Given the description of an element on the screen output the (x, y) to click on. 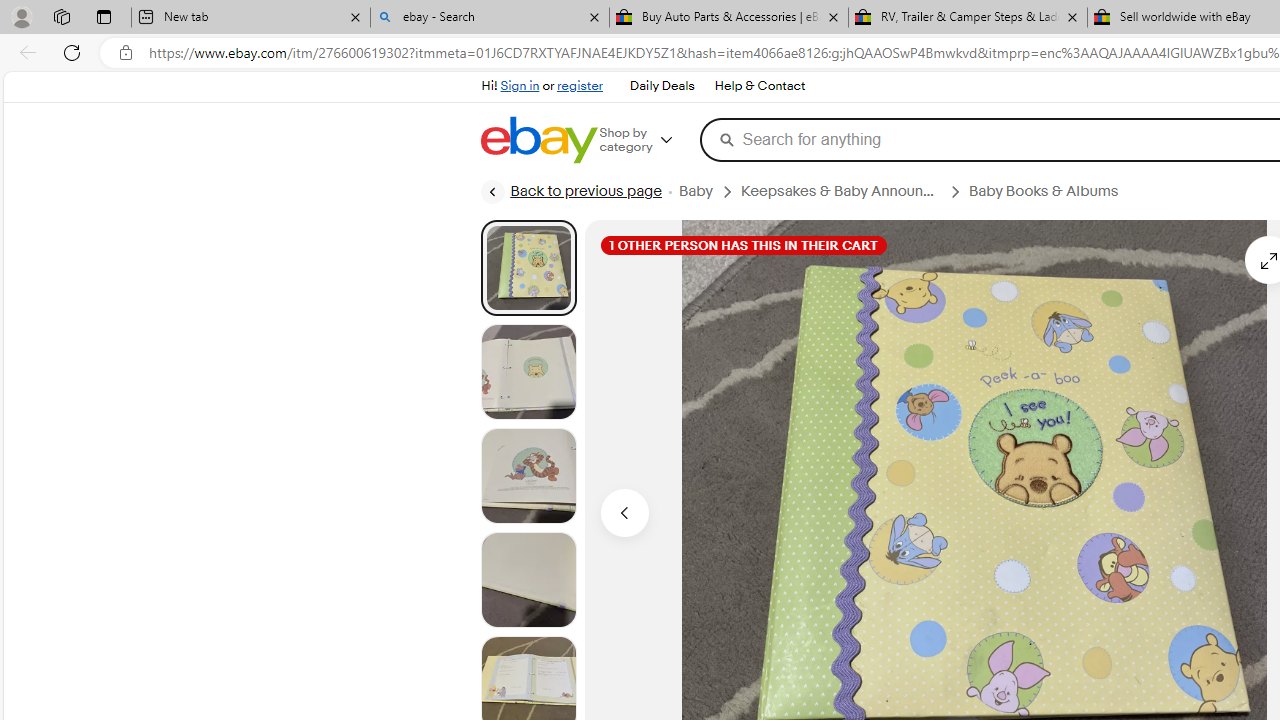
Buy Auto Parts & Accessories | eBay (729, 17)
